Given the description of an element on the screen output the (x, y) to click on. 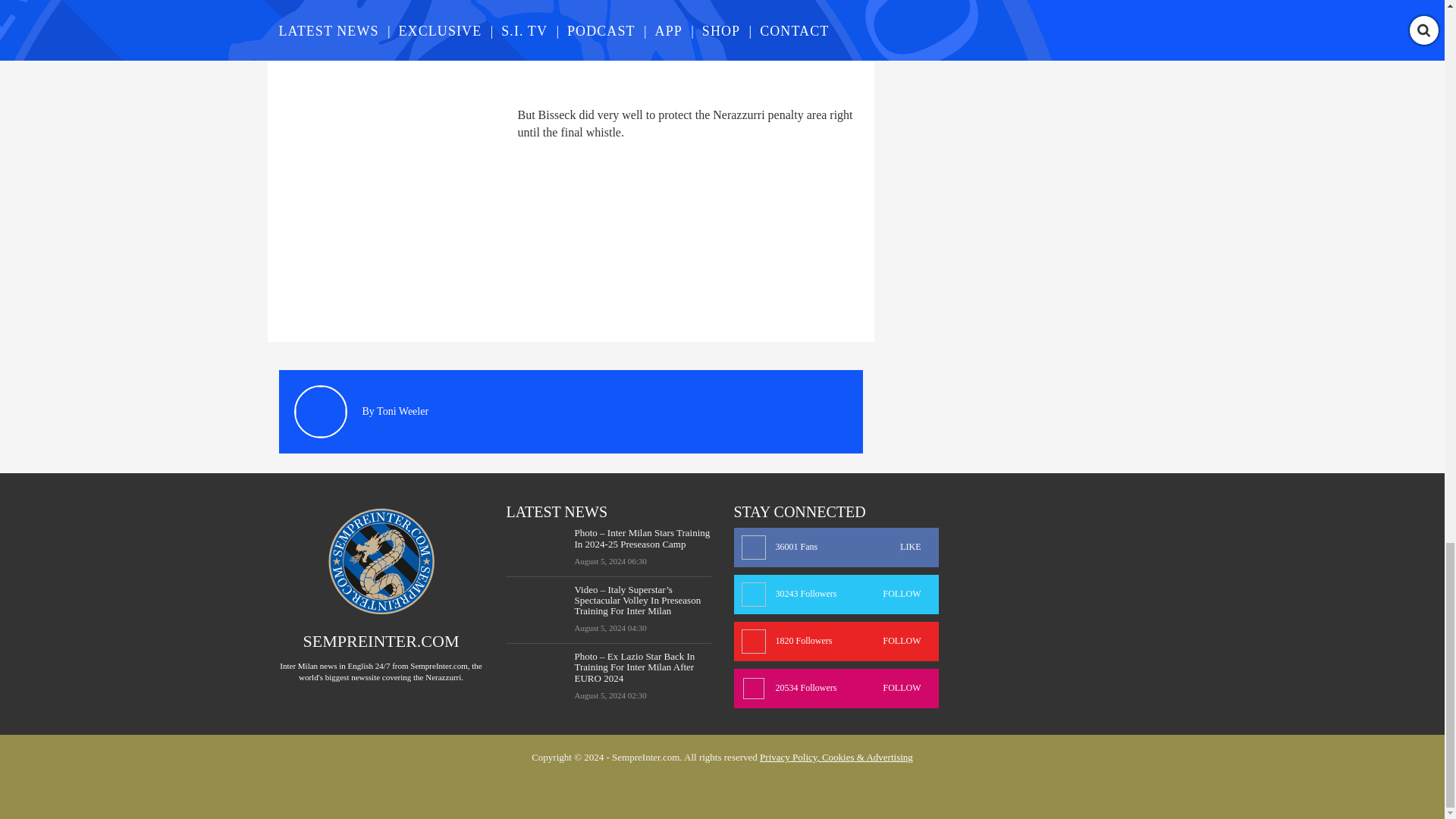
Toni Weeler (402, 410)
SEMPREINTER.COM (381, 640)
View more articles by Toni Weeler (402, 410)
YouTube video player (491, 44)
